Given the description of an element on the screen output the (x, y) to click on. 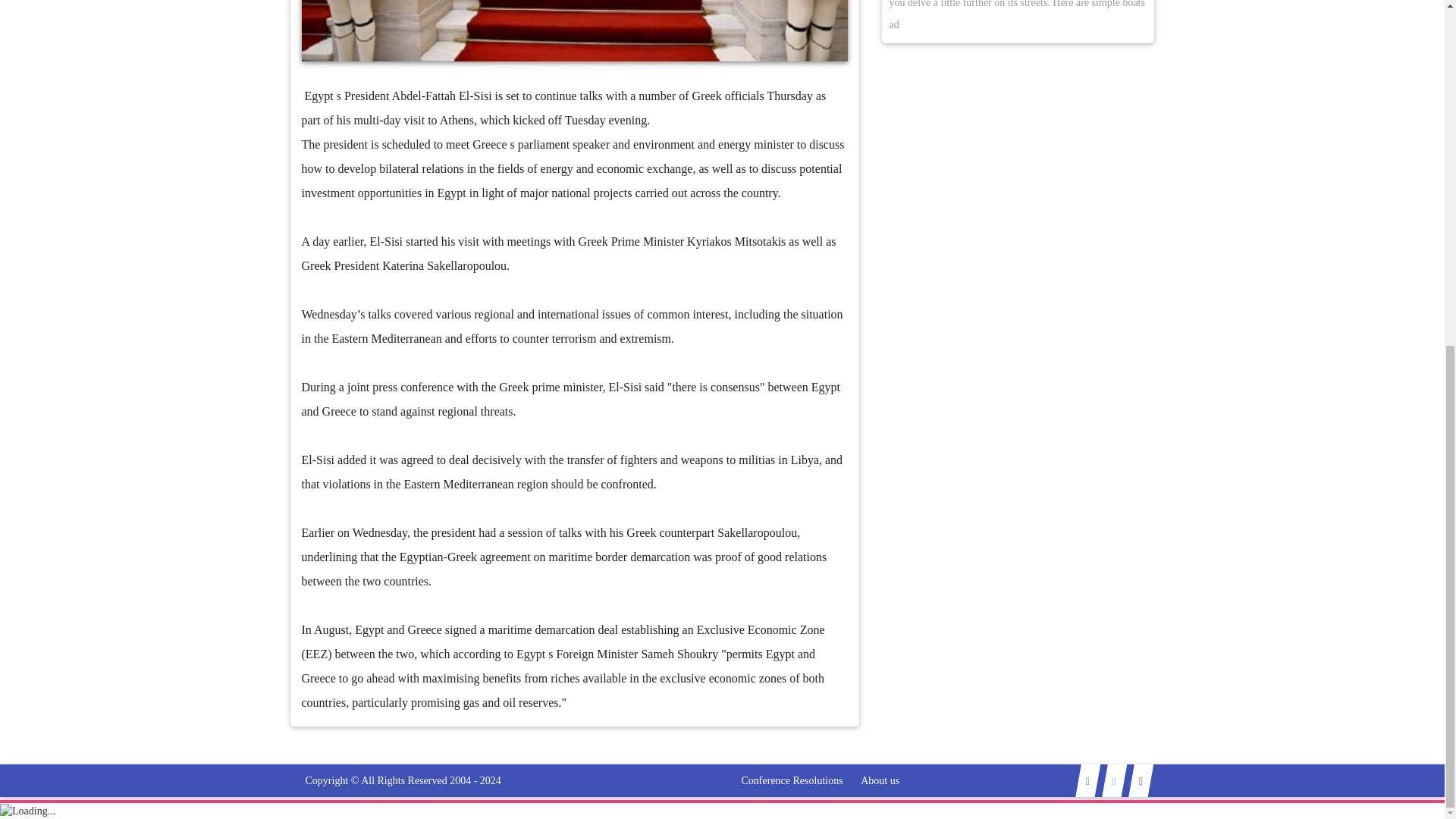
Conference Resolutions (792, 780)
Advertisement (1371, 56)
About us (879, 780)
Advertisement (71, 56)
